Given the description of an element on the screen output the (x, y) to click on. 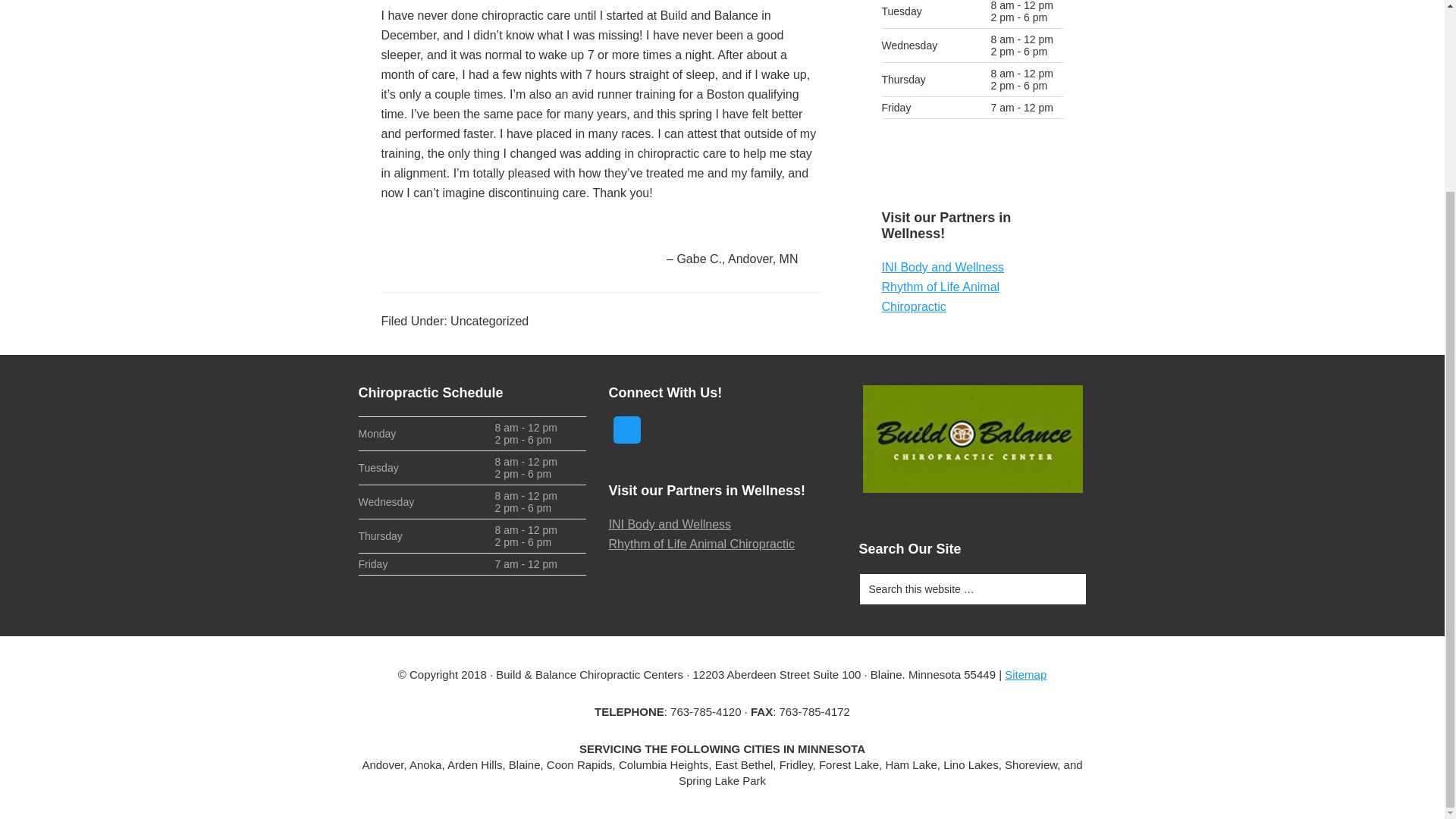
Sitemap (1025, 674)
INI Body and Wellness (942, 267)
Rhythm of Life Animal Chiropractic (700, 543)
INI Body and Wellness (669, 523)
Rhythm of Life Animal Chiropractic (939, 296)
